Given the description of an element on the screen output the (x, y) to click on. 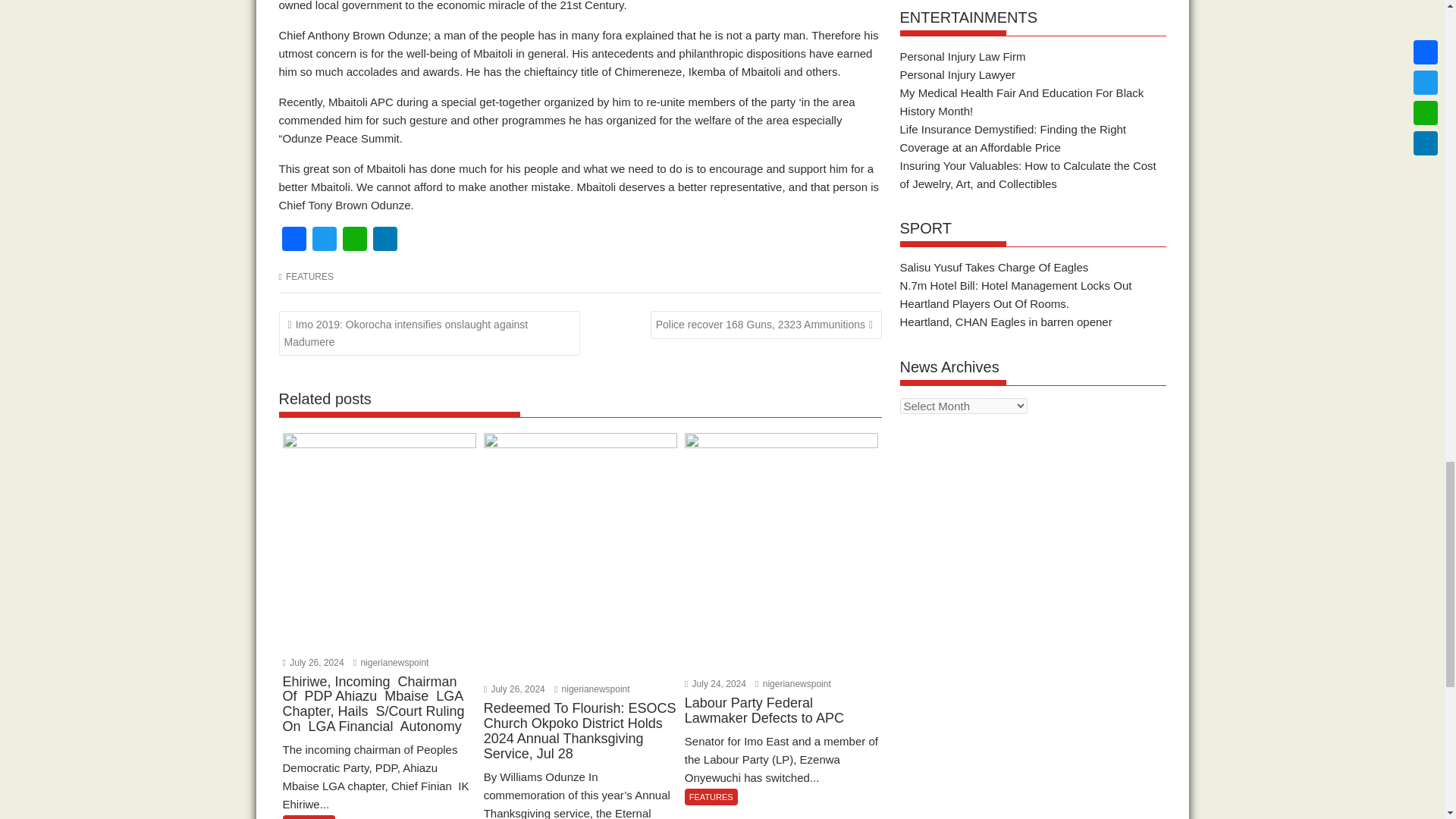
nigerianewspoint (391, 662)
LinkedIn (384, 240)
WhatsApp (354, 240)
Twitter (323, 240)
Police recover 168 Guns, 2323 Ammunitions (766, 325)
Facebook (293, 240)
LinkedIn (384, 240)
nigerianewspoint (592, 688)
Imo 2019: Okorocha intensifies onslaught against Madumere (429, 333)
Twitter (323, 240)
Facebook (293, 240)
FEATURES (309, 276)
nigerianewspoint (793, 683)
WhatsApp (354, 240)
